Given the description of an element on the screen output the (x, y) to click on. 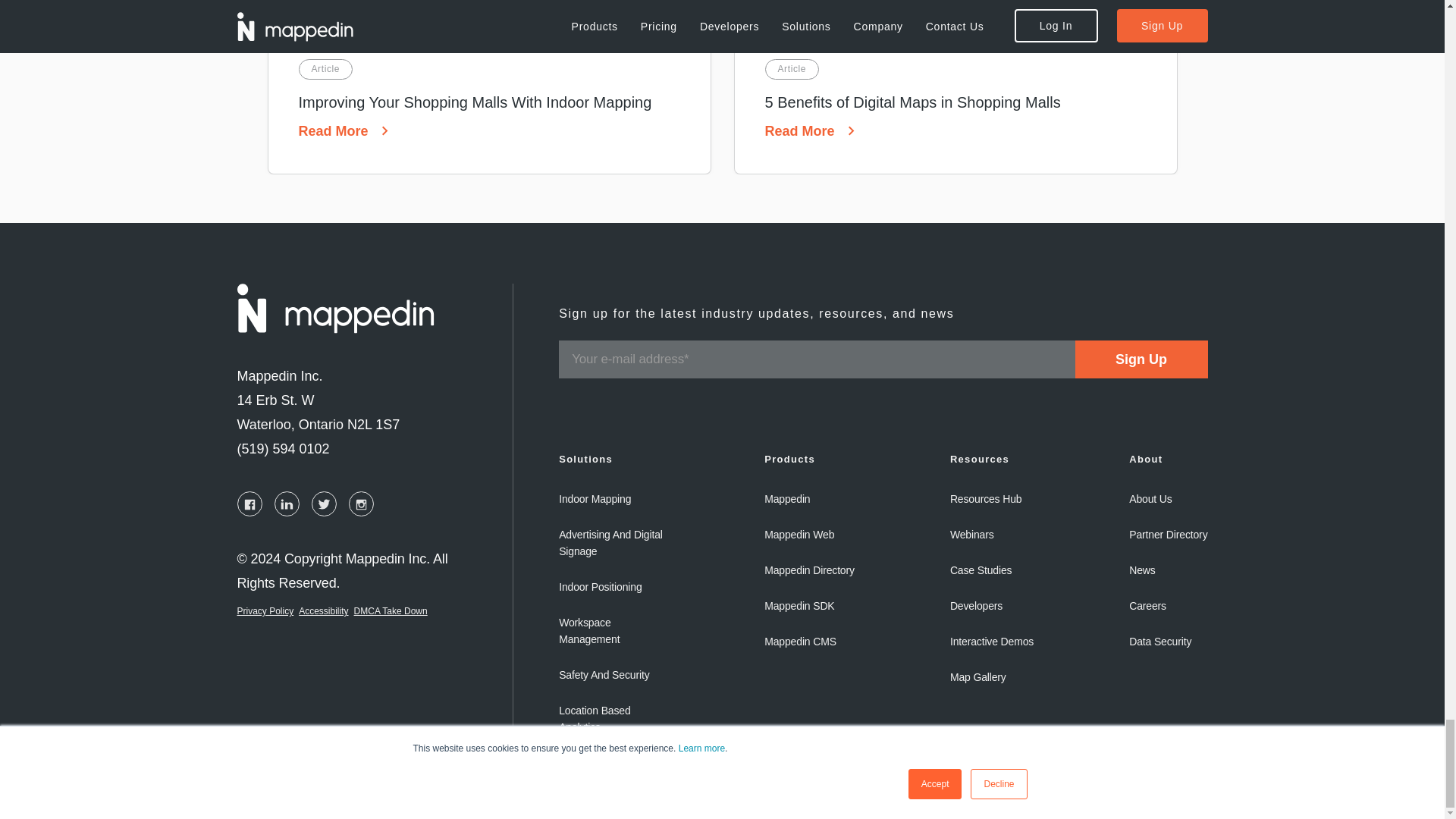
Sign Up (1141, 359)
